Given the description of an element on the screen output the (x, y) to click on. 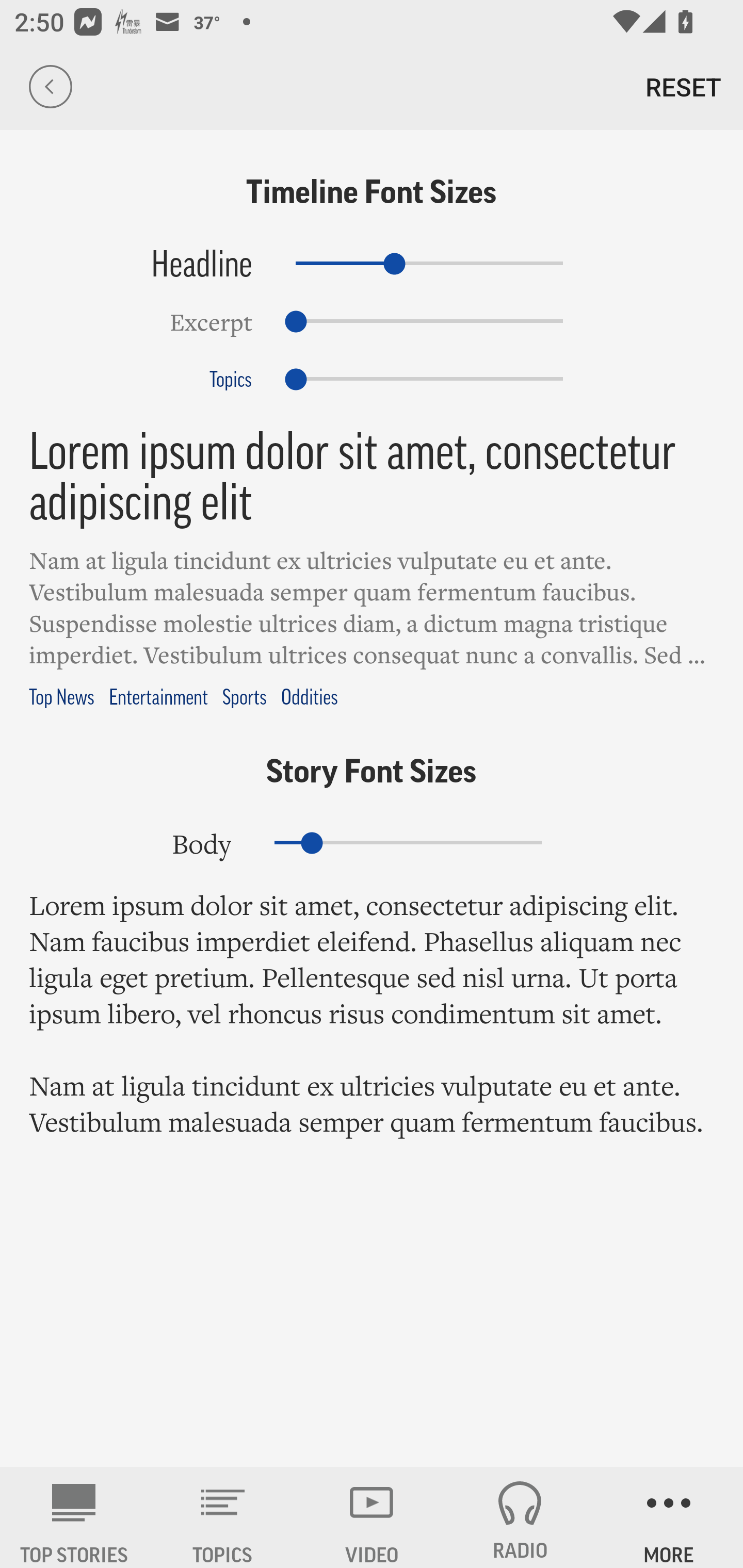
RESET (683, 86)
AP News TOP STORIES (74, 1517)
TOPICS (222, 1517)
VIDEO (371, 1517)
RADIO (519, 1517)
MORE (668, 1517)
